Given the description of an element on the screen output the (x, y) to click on. 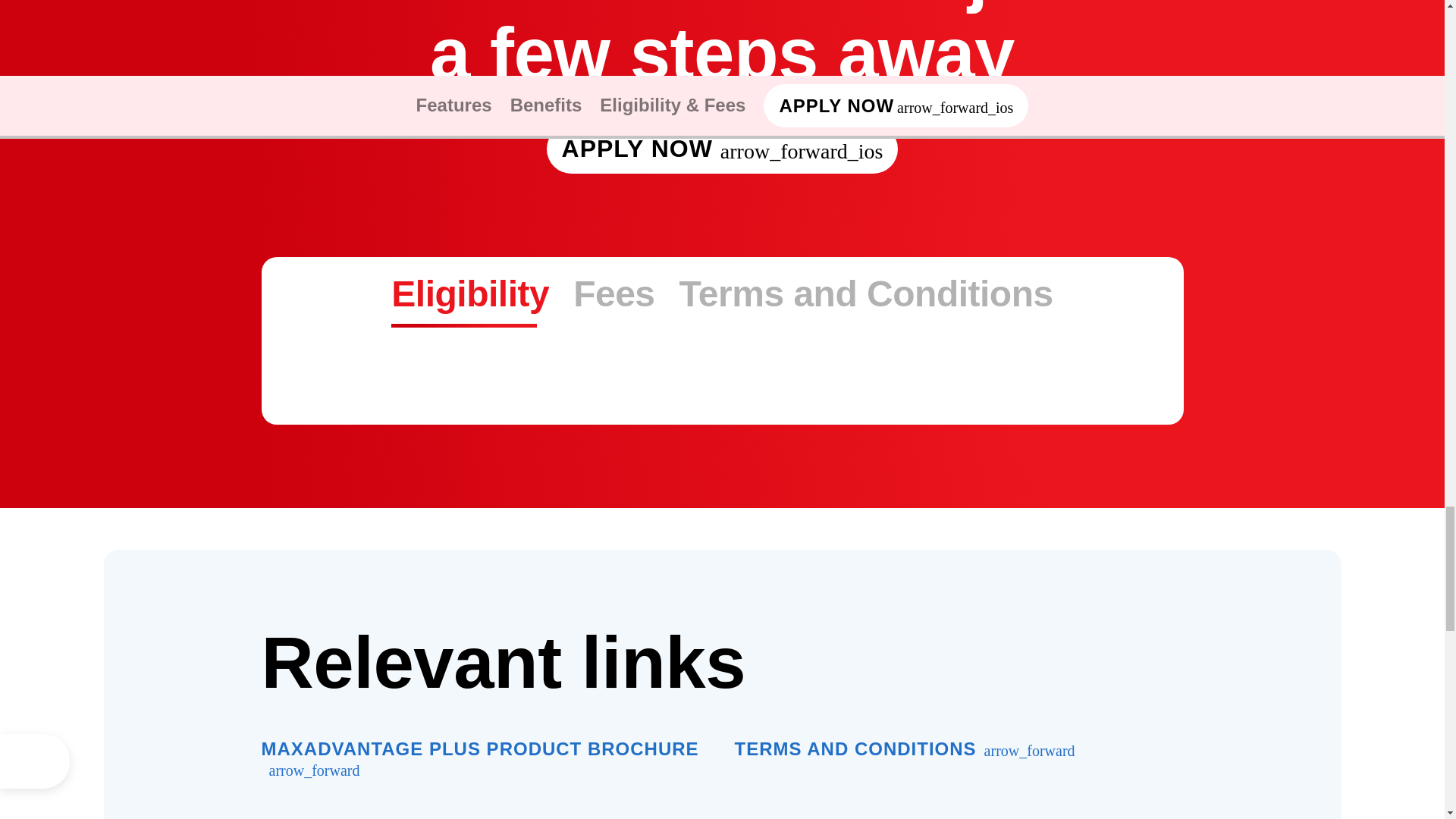
MaxAdvantage Plus Product Brochure (485, 759)
Fees (613, 292)
  Terms and Conditions (903, 749)
Terms and Conditions (721, 292)
Eligibility (865, 292)
